Given the description of an element on the screen output the (x, y) to click on. 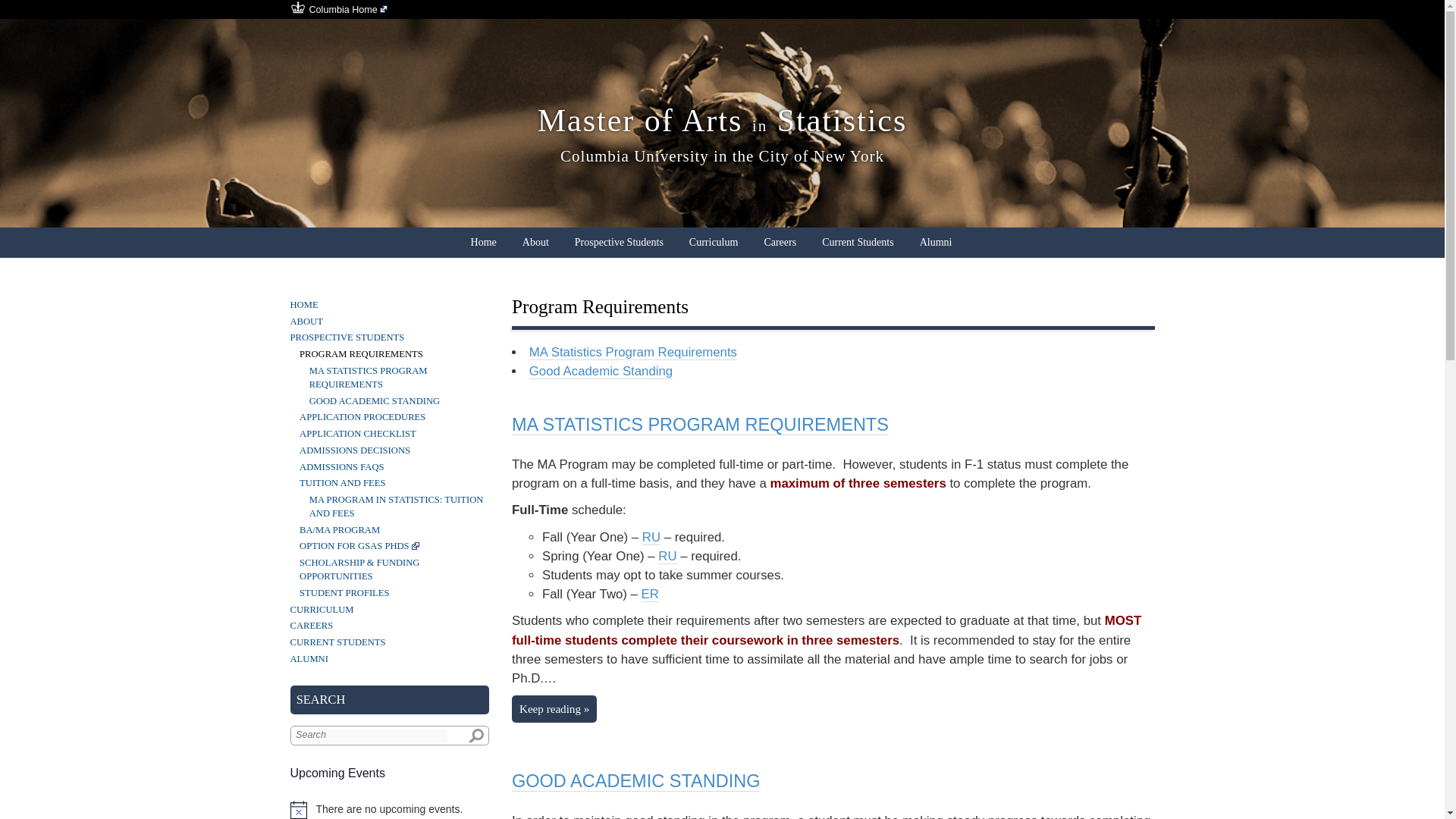
About (535, 242)
About (535, 242)
Home (483, 242)
Prospective Students (619, 242)
Prospective Students (619, 242)
Columbia Home (349, 10)
Current Students (857, 242)
Curriculum (713, 242)
Master of Arts in Statistics (721, 121)
Careers (779, 242)
Home (483, 242)
